Given the description of an element on the screen output the (x, y) to click on. 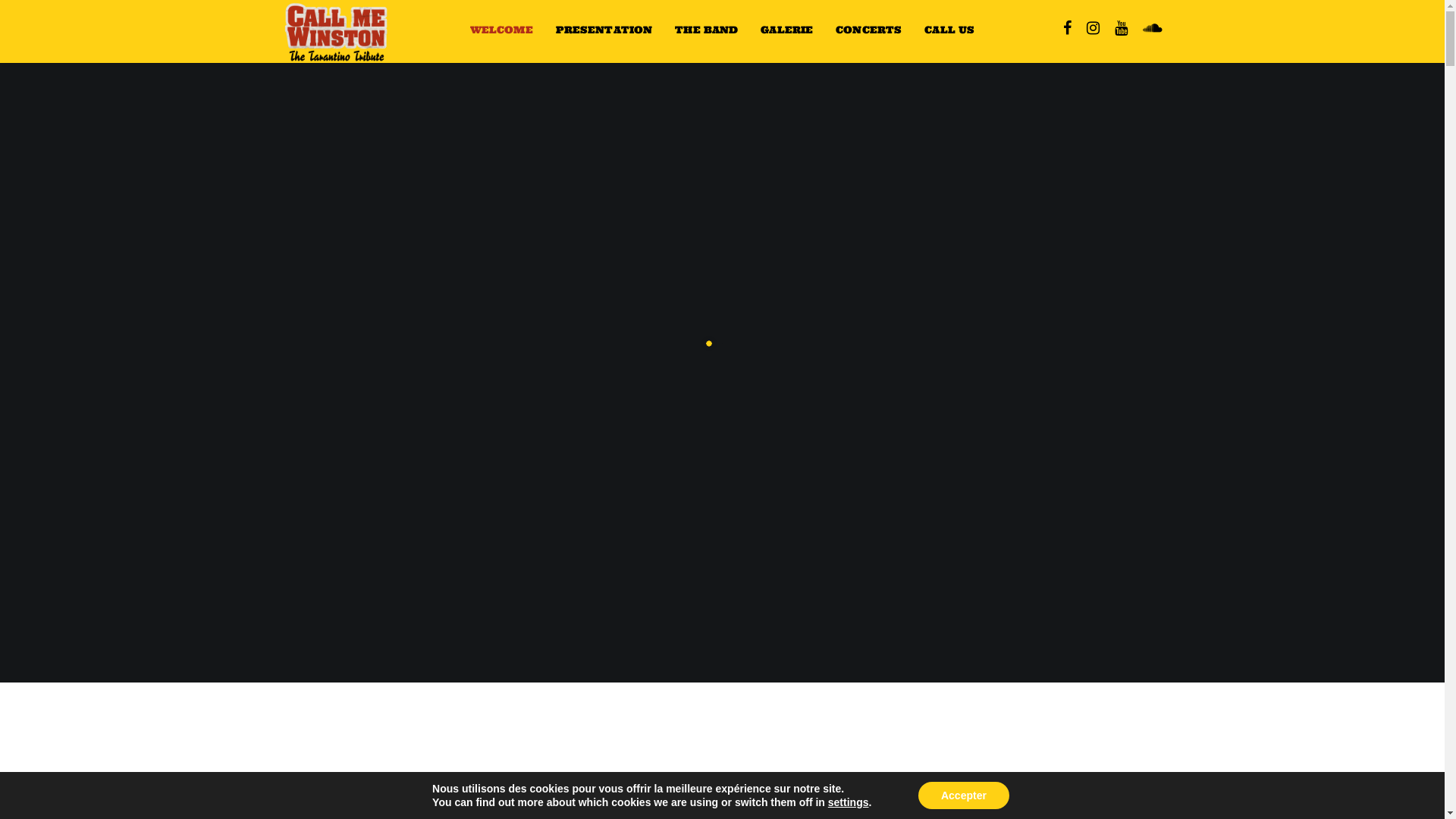
CONCERTS Element type: text (868, 30)
Accepter Element type: text (963, 795)
PRESENTATION Element type: text (604, 30)
GALERIE Element type: text (786, 30)
settings Element type: text (848, 802)
WELCOME Element type: text (501, 30)
THE BAND Element type: text (706, 30)
CALL US Element type: text (949, 30)
